Given the description of an element on the screen output the (x, y) to click on. 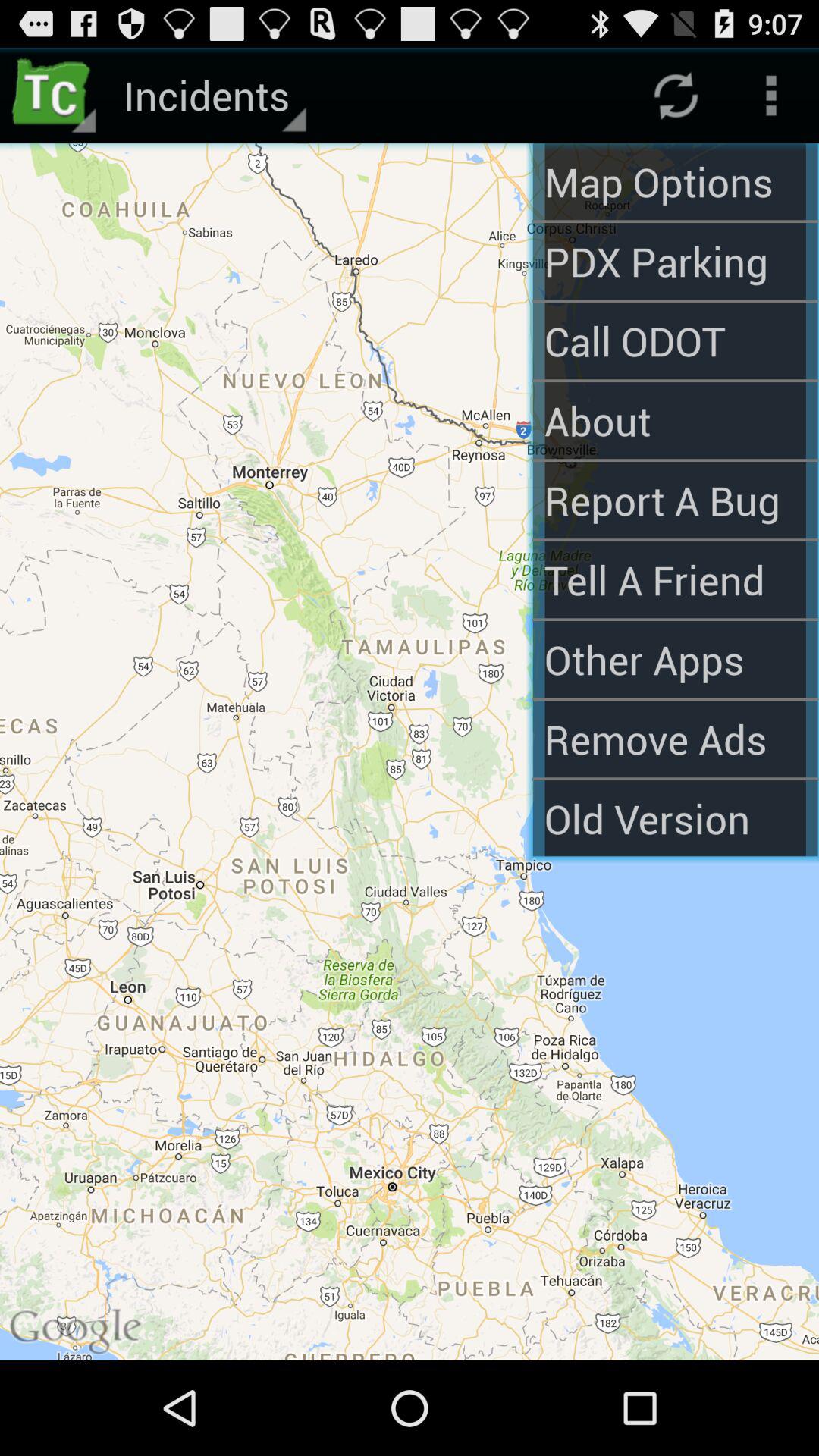
scroll until map options item (675, 181)
